Given the description of an element on the screen output the (x, y) to click on. 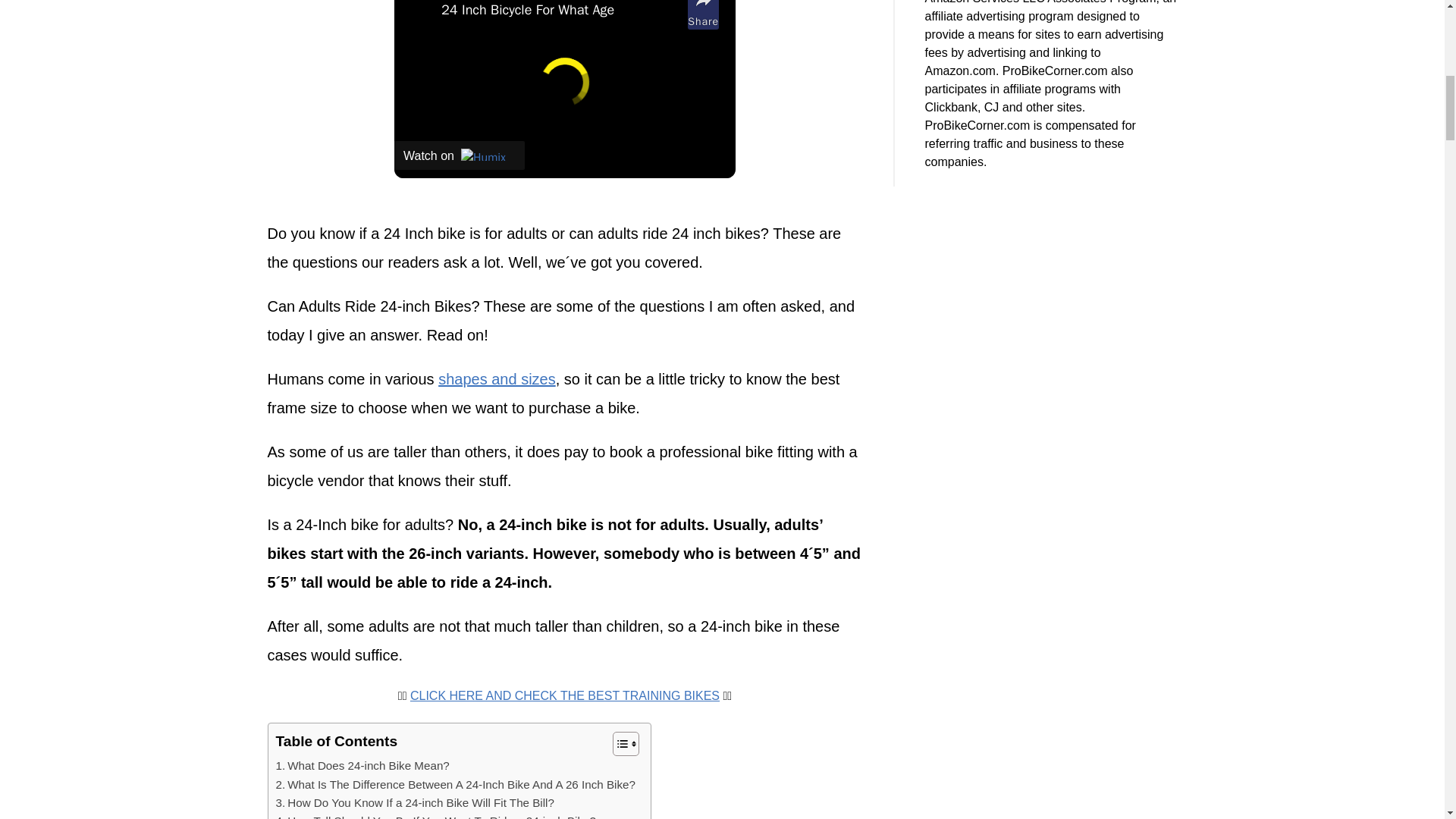
CLICK HERE AND CHECK THE BEST TRAINING BIKES (564, 695)
shapes and sizes (497, 379)
Watch on (459, 154)
How Do You Know If a 24-inch Bike Will Fit The Bill? (415, 802)
How Tall Should You Be If You Want To Ride a 24-inch Bike? (435, 815)
24 Inch Bicycle For What Age (560, 10)
What Does 24-inch Bike Mean? (362, 765)
How Tall Should You Be If You Want To Ride a 24-inch Bike? (435, 815)
